Given the description of an element on the screen output the (x, y) to click on. 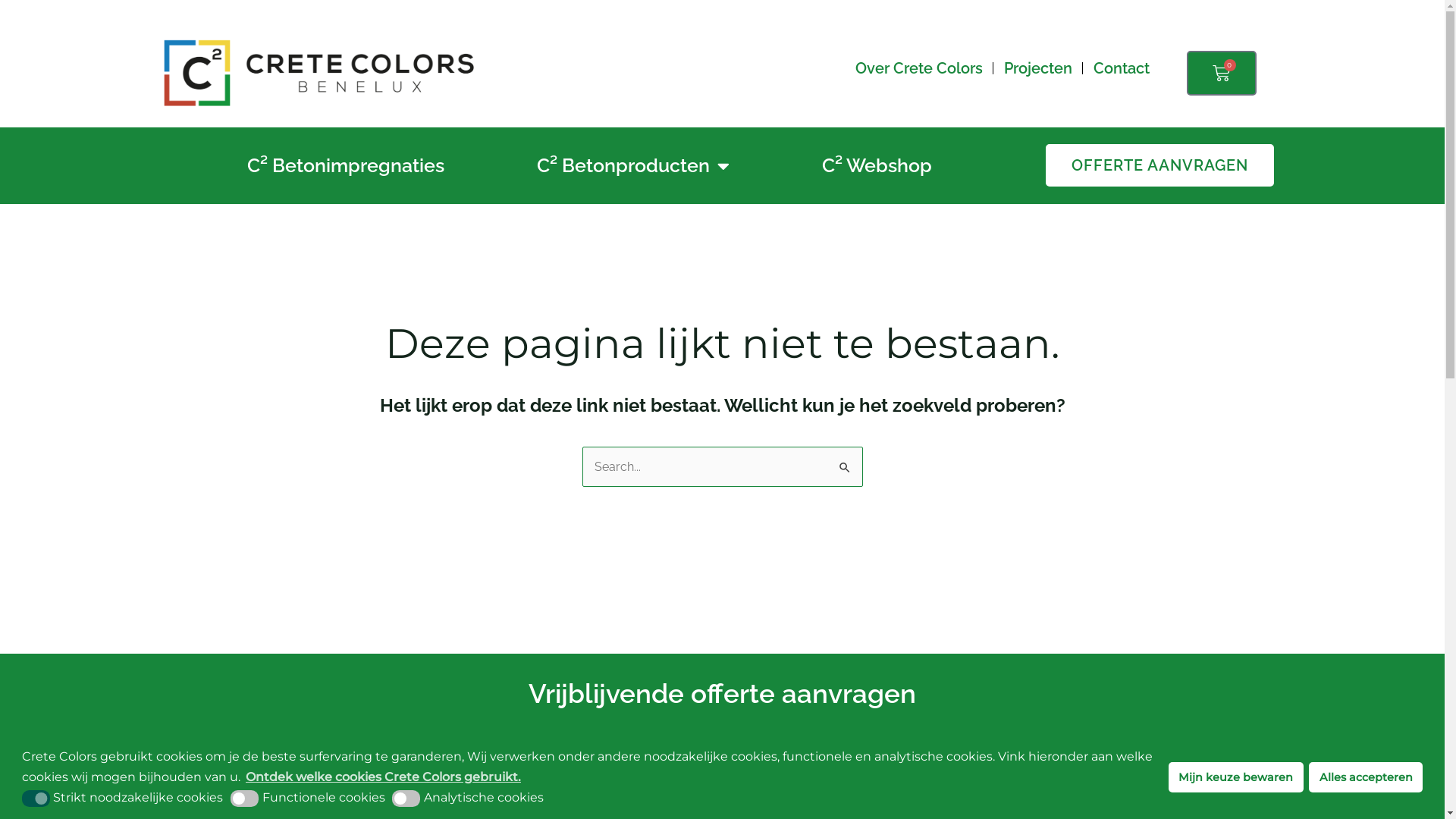
0
CART Element type: text (1221, 72)
OFFERTE AANVRAGEN Element type: text (1159, 165)
Over Crete Colors Element type: text (918, 67)
Mijn keuze bewaren Element type: text (1235, 777)
Zoeken Element type: text (845, 461)
Contact Element type: text (1121, 67)
Alles accepteren Element type: text (1365, 777)
Projecten Element type: text (1038, 67)
Ontdek welke cookies Crete Colors gebruikt. Element type: text (383, 776)
